Given the description of an element on the screen output the (x, y) to click on. 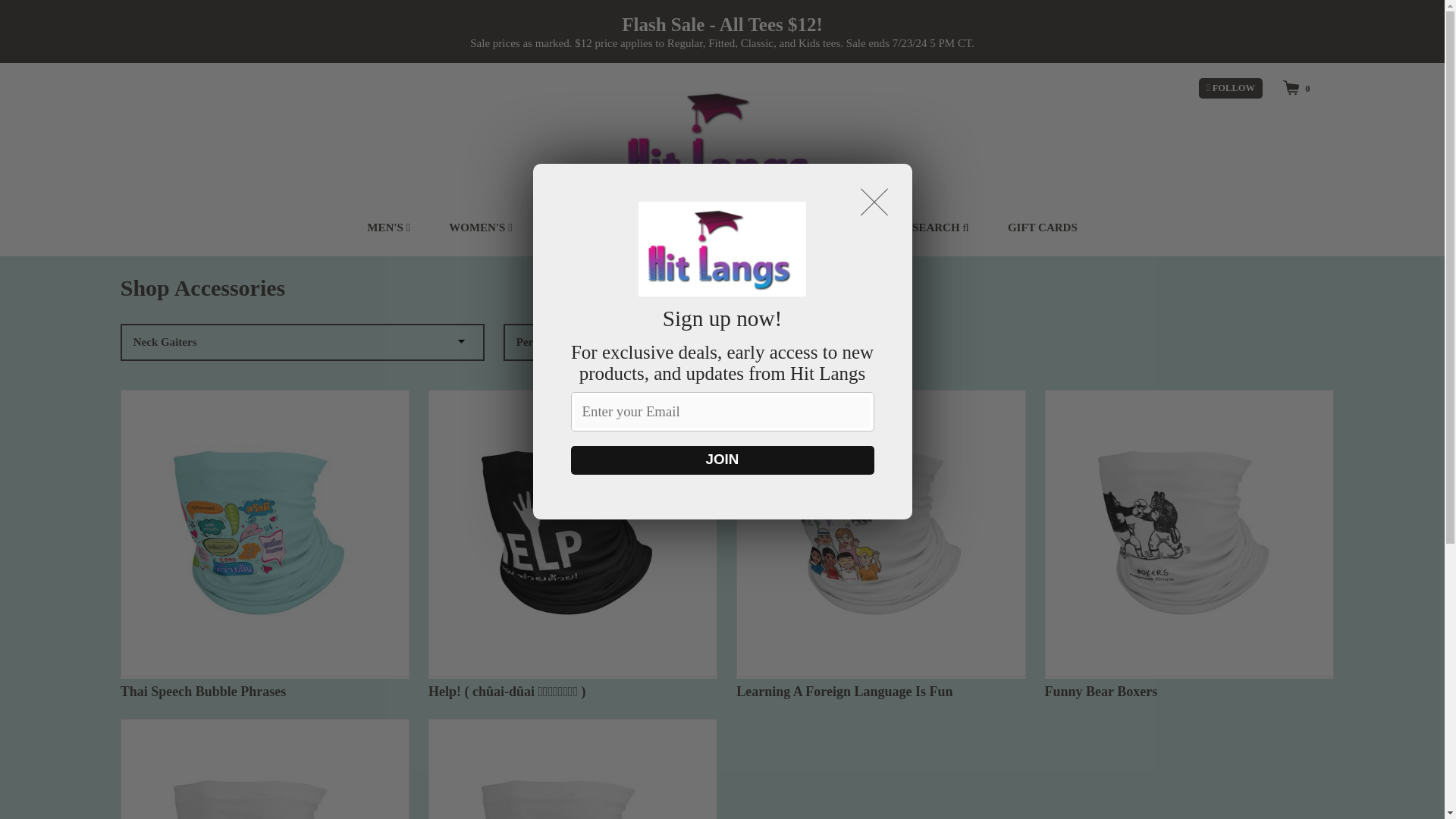
Hello " Sawatdii " With Thai Script (572, 769)
Shop Women's (480, 227)
Shop Accessories (750, 227)
MEN'S (388, 227)
Cart (1295, 87)
FOLLOW (1230, 87)
Shop Kids (568, 227)
ACCESSORIES (750, 227)
GIFT CARDS (1042, 227)
Funny Bear Boxers (1189, 544)
WOMEN'S (480, 227)
0 (1295, 87)
SEARCH (940, 227)
Learning A Foreign Language Is Fun (880, 544)
KIDS (568, 227)
